Given the description of an element on the screen output the (x, y) to click on. 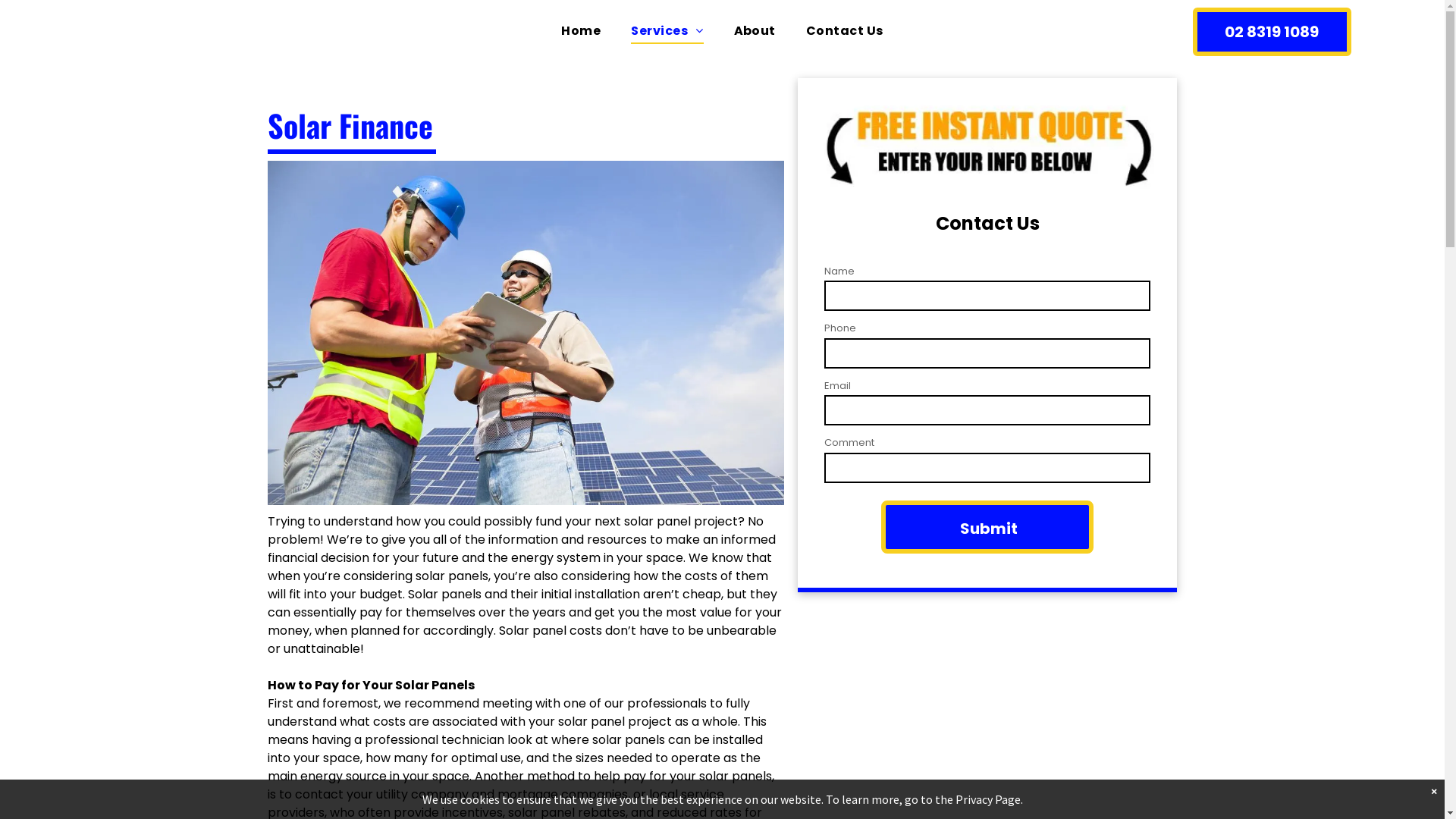
About Element type: text (754, 30)
Contact Us Element type: text (844, 30)
Services Element type: text (666, 30)
Submit Element type: text (988, 528)
Home Element type: text (580, 30)
02 8319 1089 Element type: text (1271, 31)
